Given the description of an element on the screen output the (x, y) to click on. 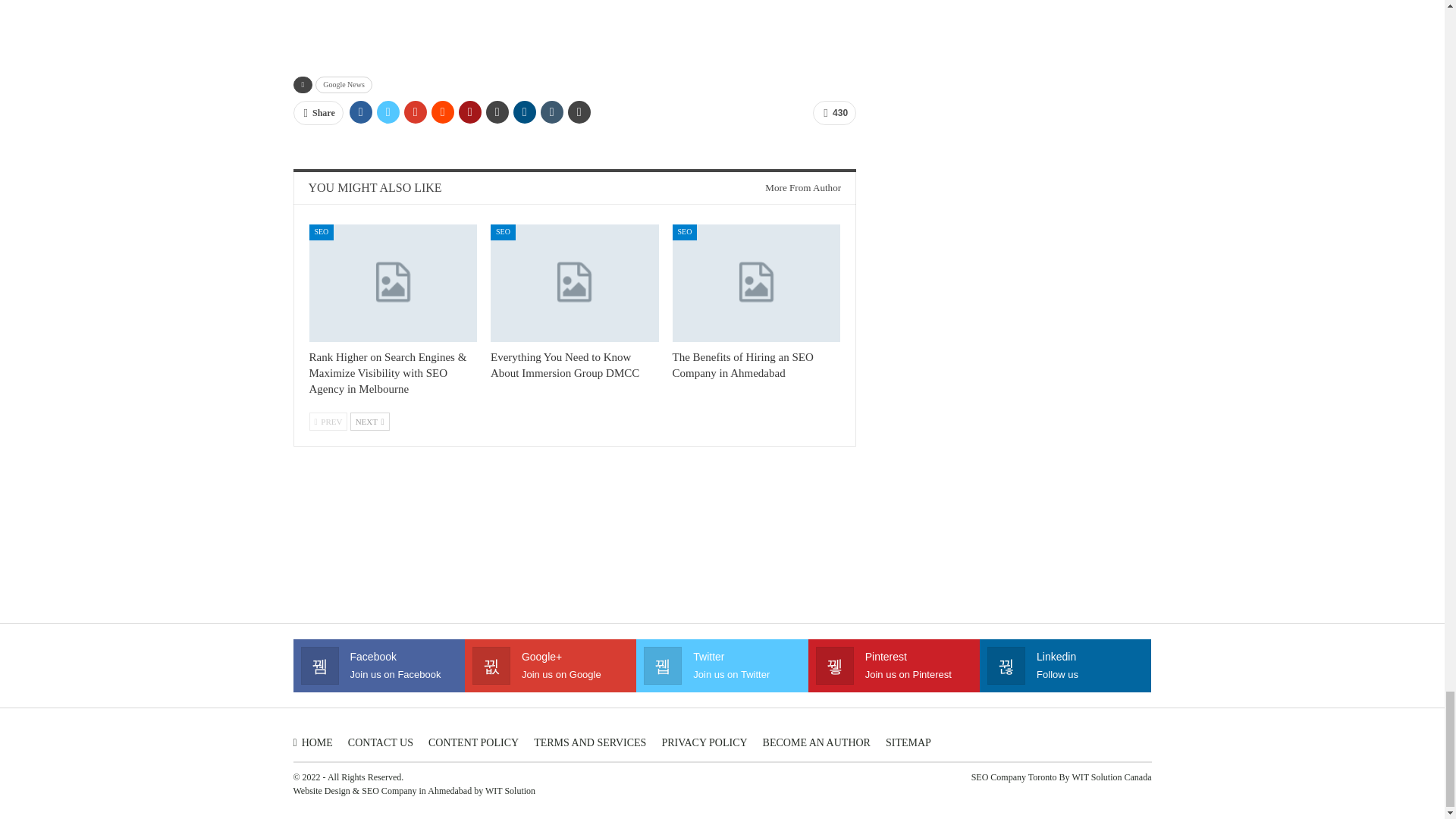
The Benefits of Hiring an SEO Company in Ahmedabad (756, 283)
Everything You Need to Know About Immersion Group DMCC (564, 365)
The Benefits of Hiring an SEO Company in Ahmedabad (742, 365)
Everything You Need to Know About Immersion Group DMCC (574, 283)
Next (370, 421)
Previous (327, 421)
